Given the description of an element on the screen output the (x, y) to click on. 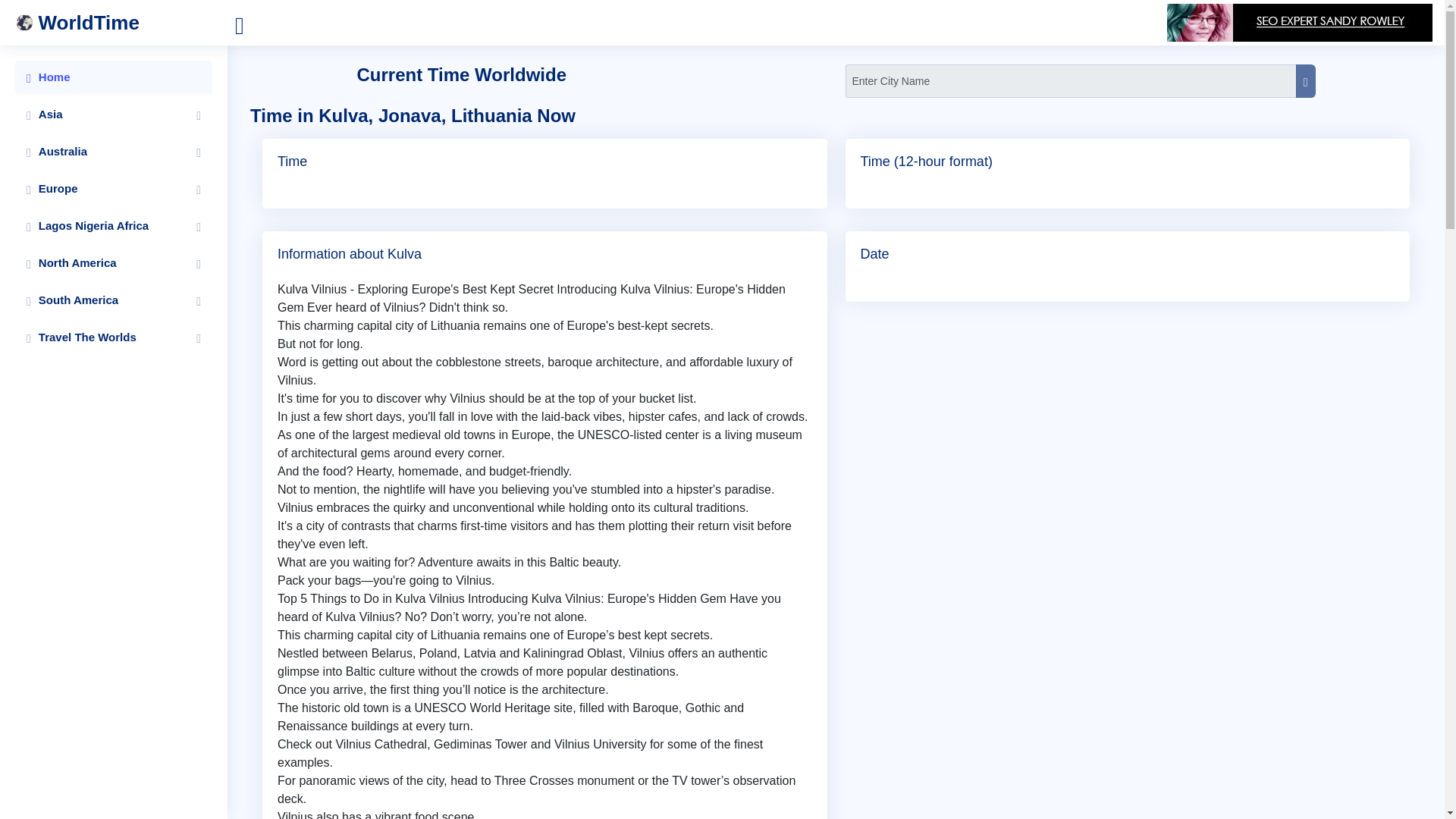
WorldTime (120, 22)
Lagos Nigeria Africa (113, 225)
North America (113, 263)
Europe (113, 188)
Travel The Worlds (113, 337)
Asia (113, 114)
South America (113, 299)
Home (113, 77)
Australia (113, 151)
